Given the description of an element on the screen output the (x, y) to click on. 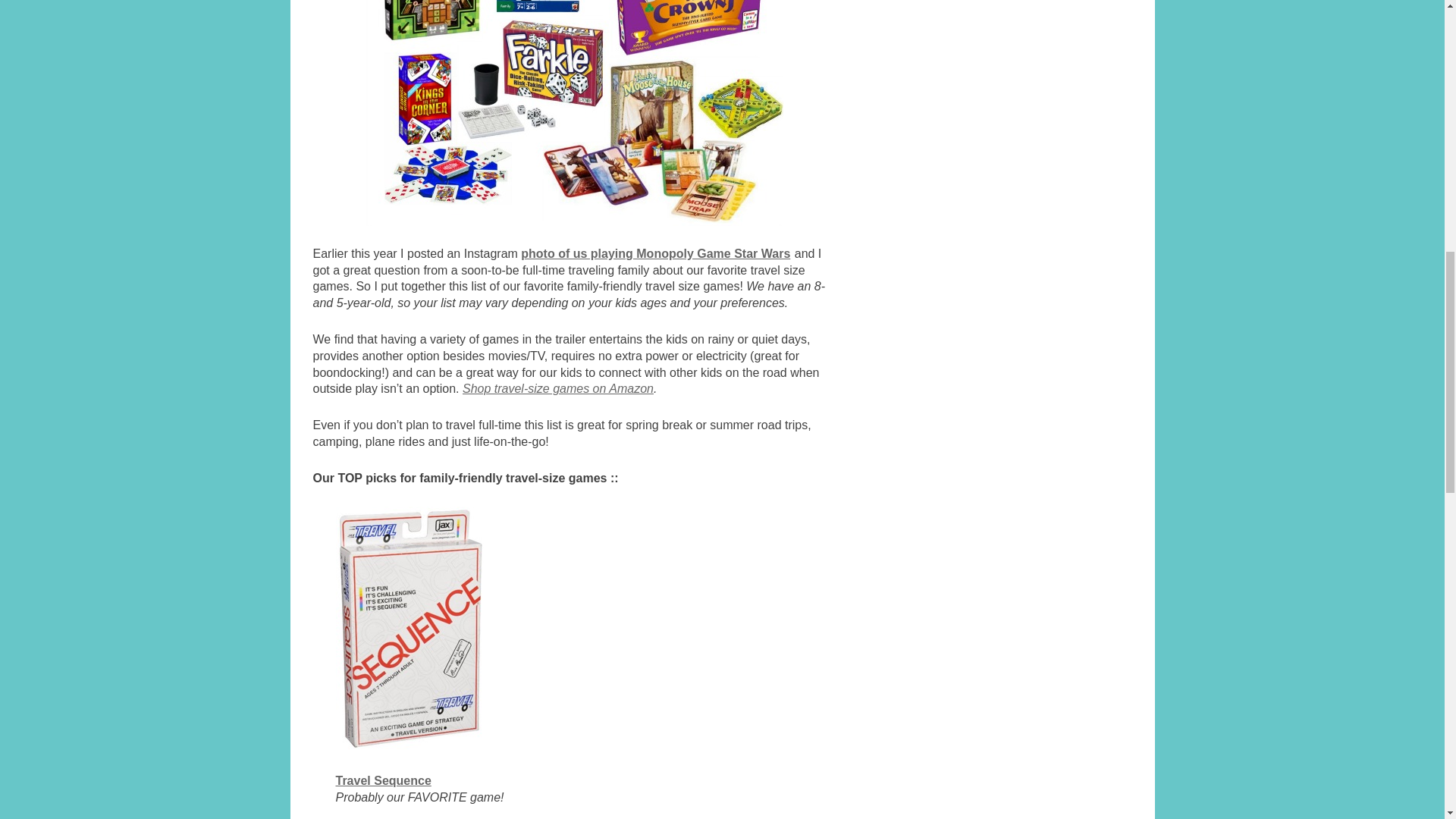
Shop travel-size games on Amazon (558, 388)
photo of us playing Monopoly Game Star Wars (655, 253)
Travel Sequence (382, 780)
